Given the description of an element on the screen output the (x, y) to click on. 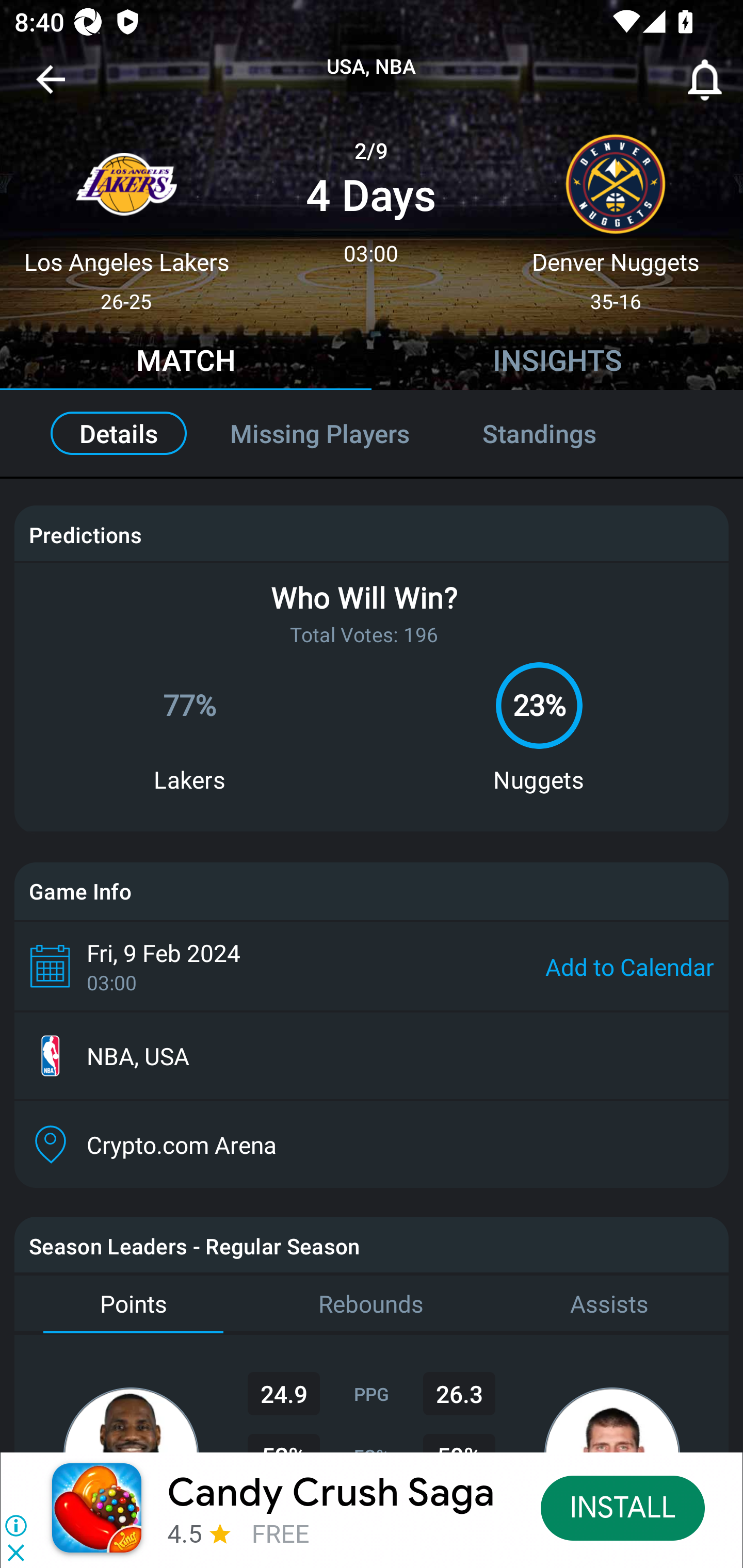
Navigate up (50, 86)
USA, NBA (371, 66)
Los Angeles Lakers 26-25 (126, 214)
Denver Nuggets 35-16 (616, 214)
MATCH (185, 362)
INSIGHTS (557, 362)
Missing Players (319, 433)
Standings (561, 433)
Predictions (85, 534)
Game Info (371, 891)
Fri, 9 Feb 2024 03:00 Add to Calendar (371, 965)
NBA, USA (371, 1055)
Crypto.com Arena (371, 1144)
Rebounds (371, 1303)
Assists (609, 1303)
Candy Crush Saga (330, 1493)
INSTALL (623, 1507)
